Given the description of an element on the screen output the (x, y) to click on. 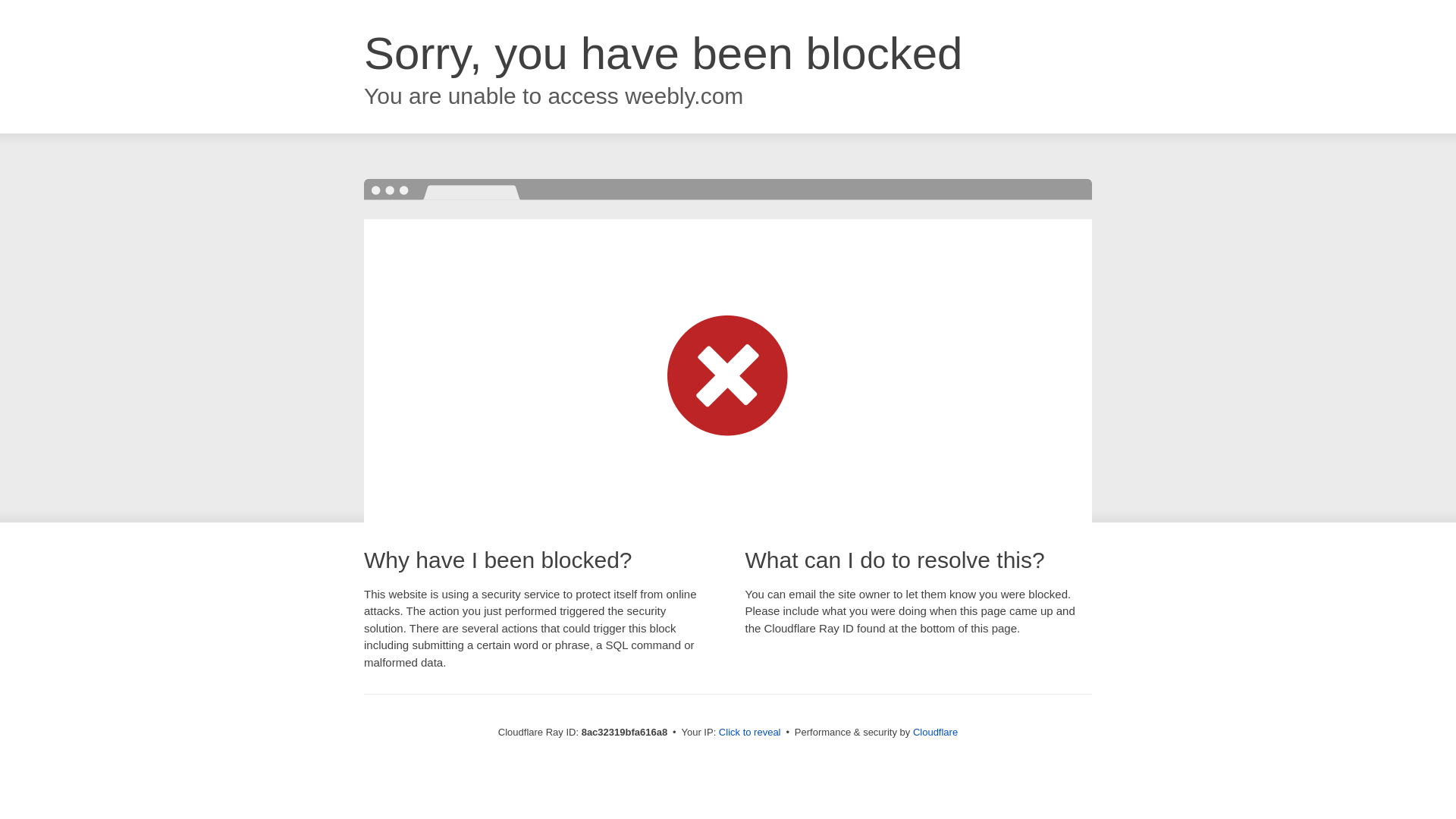
Click to reveal (749, 732)
Cloudflare (935, 731)
